Given the description of an element on the screen output the (x, y) to click on. 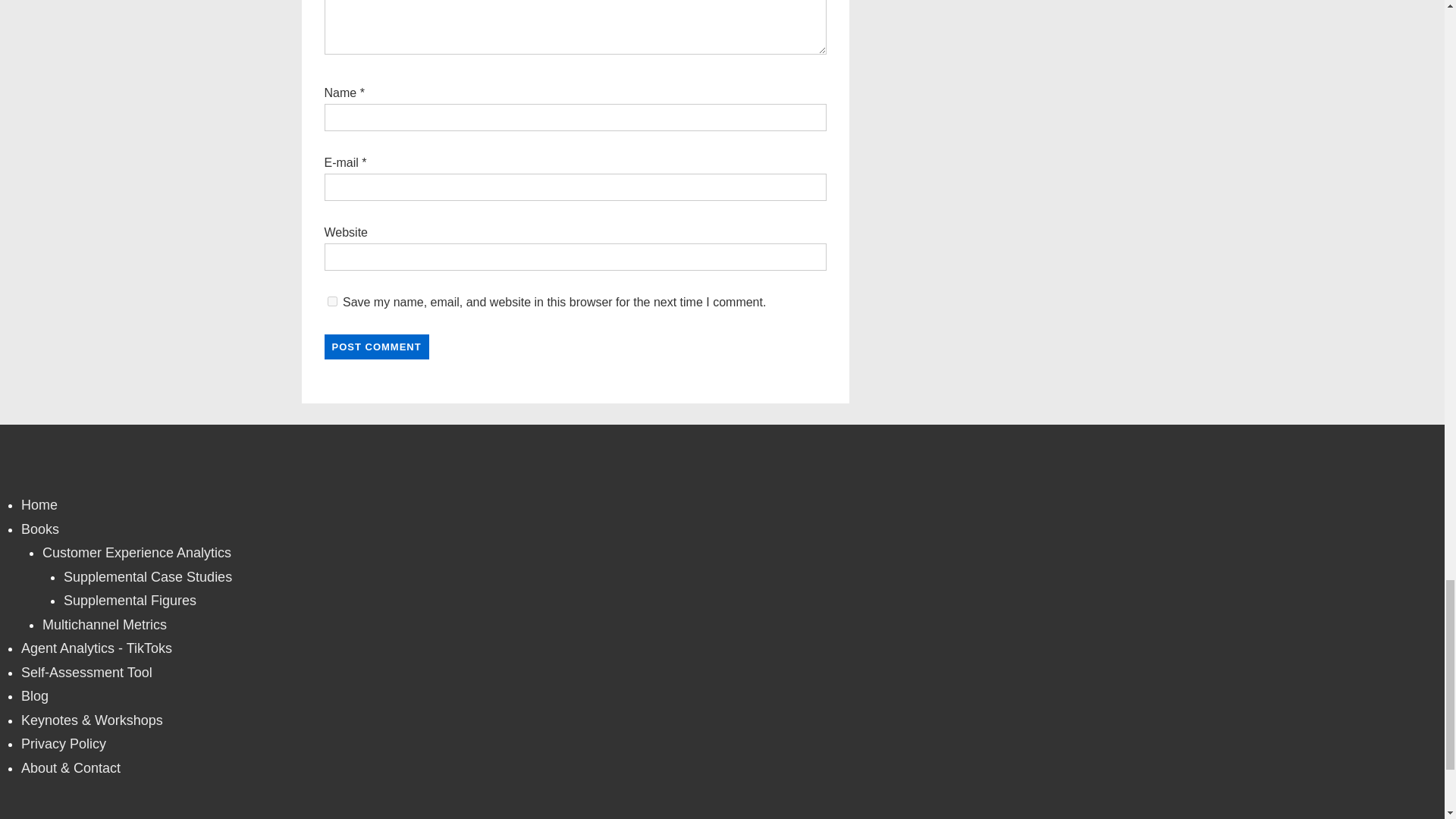
Post Comment (376, 346)
yes (332, 301)
Post Comment (376, 346)
